Given the description of an element on the screen output the (x, y) to click on. 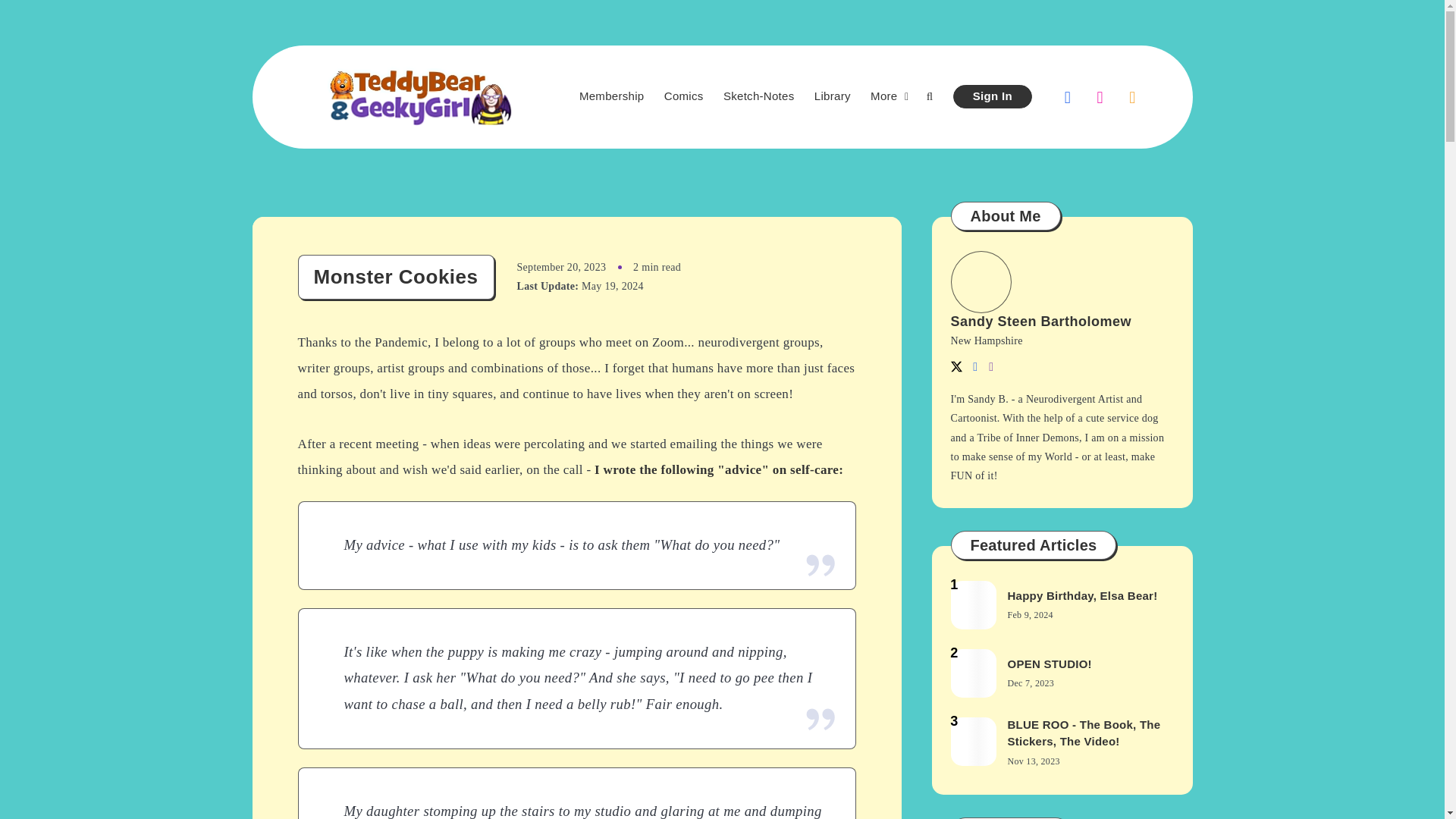
Comics (683, 96)
Sketch-Notes (758, 96)
Library (831, 96)
Sign In (992, 96)
Membership (612, 96)
More (883, 96)
